Given the description of an element on the screen output the (x, y) to click on. 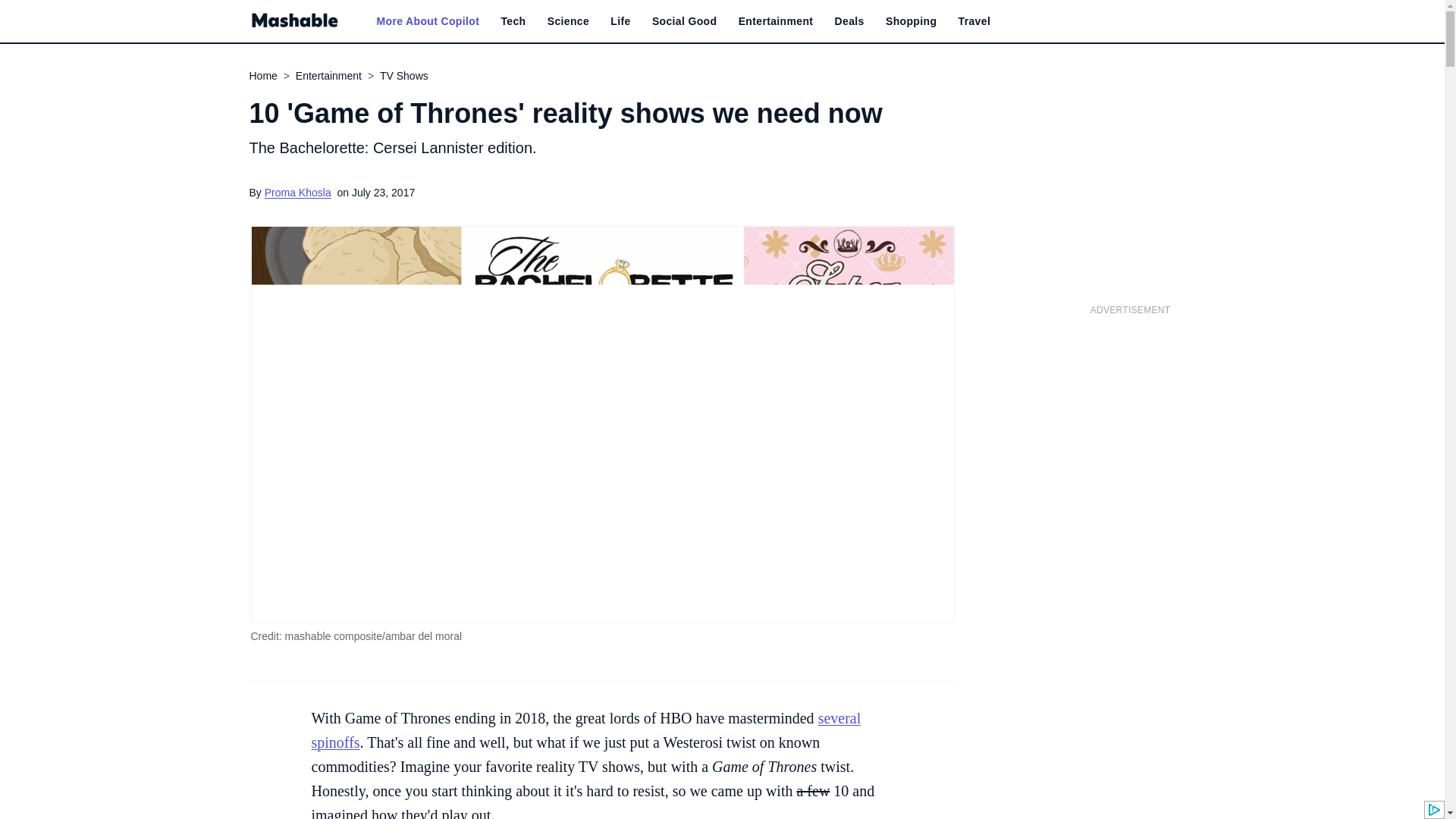
Deals (849, 21)
Entertainment (775, 21)
Shopping (910, 21)
More About Copilot (427, 21)
Social Good (684, 21)
Tech (512, 21)
Science (568, 21)
Travel (974, 21)
Life (620, 21)
